Given the description of an element on the screen output the (x, y) to click on. 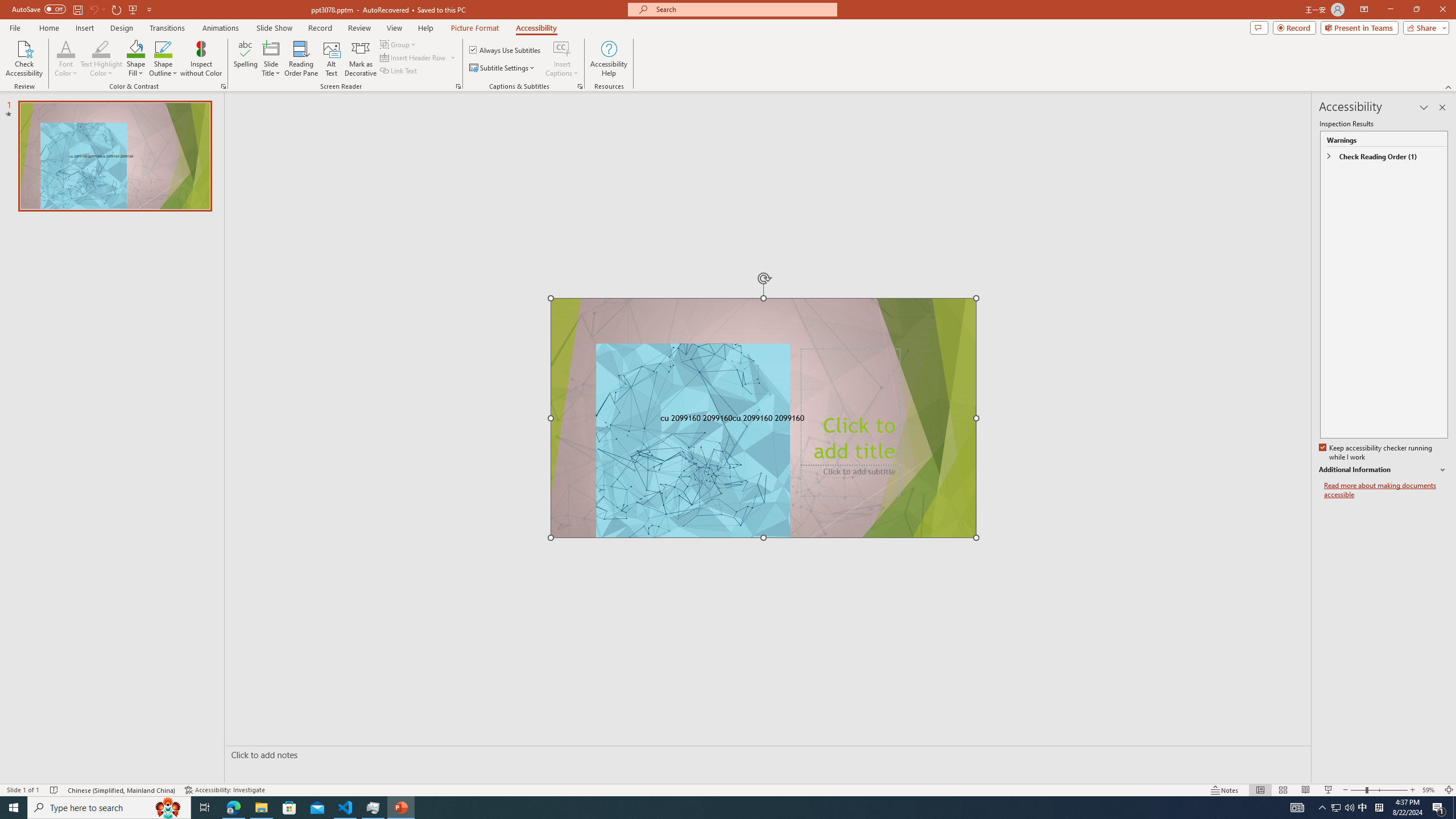
Subtitle Settings (502, 67)
Color & Contrast (223, 85)
Font Color (65, 58)
Zoom 59% (1430, 790)
Text Highlight Color (100, 48)
Always Use Subtitles (505, 49)
